Given the description of an element on the screen output the (x, y) to click on. 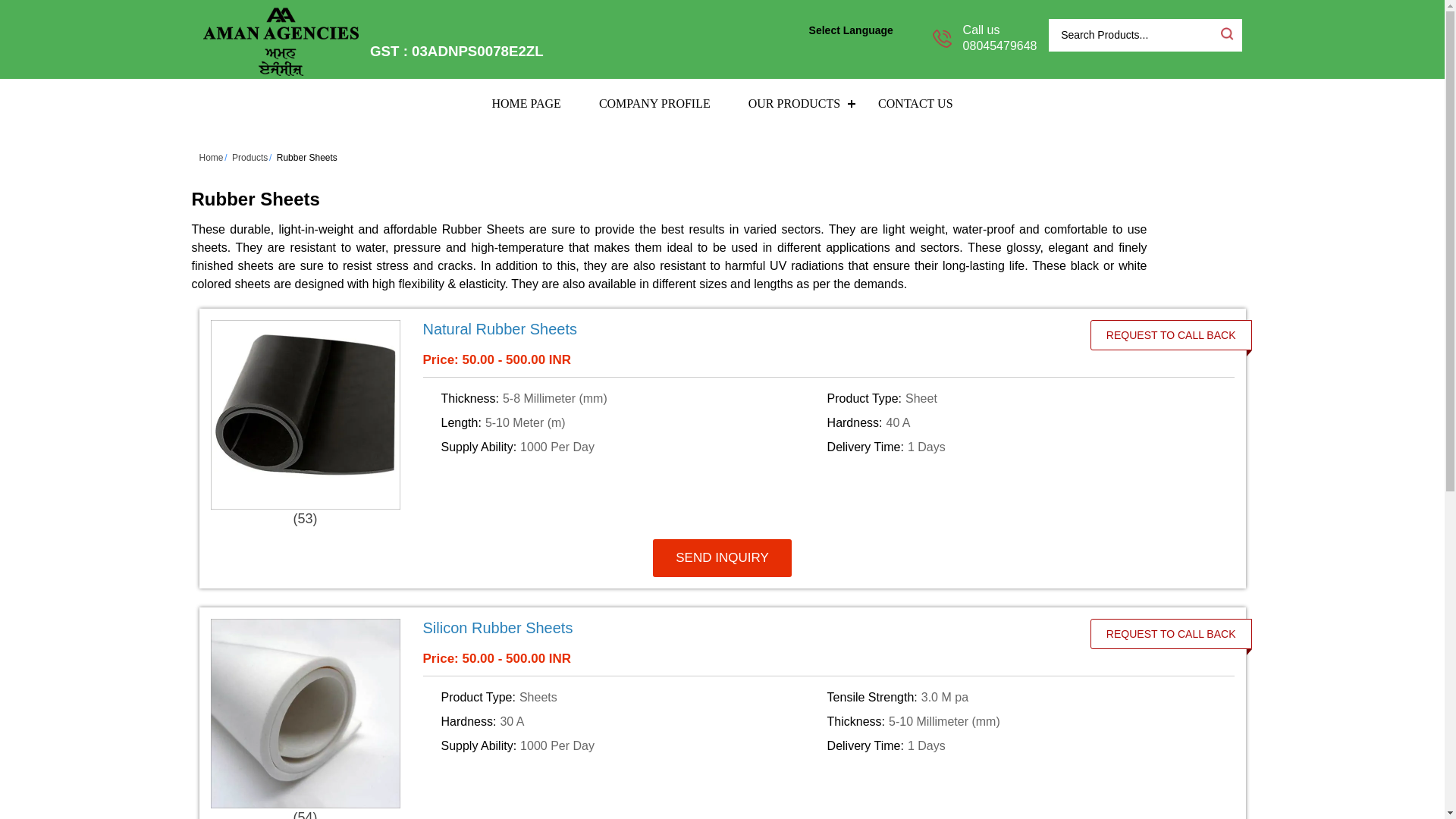
Search (1225, 33)
HOME PAGE (525, 103)
Silicon Rubber Sheets (747, 628)
Select Language (860, 29)
Hardness: 30 A (631, 721)
Search Products... (1133, 34)
Delivery Time: 1 Days (1017, 447)
Delivery Time: 1 Days (1017, 746)
Natural Rubber Sheets (499, 329)
CONTACT US (915, 103)
REQUEST TO CALL BACK (1170, 335)
COMPANY PROFILE (654, 103)
Home (210, 157)
Natural Rubber Sheets (747, 329)
SEND INQUIRY (722, 557)
